Given the description of an element on the screen output the (x, y) to click on. 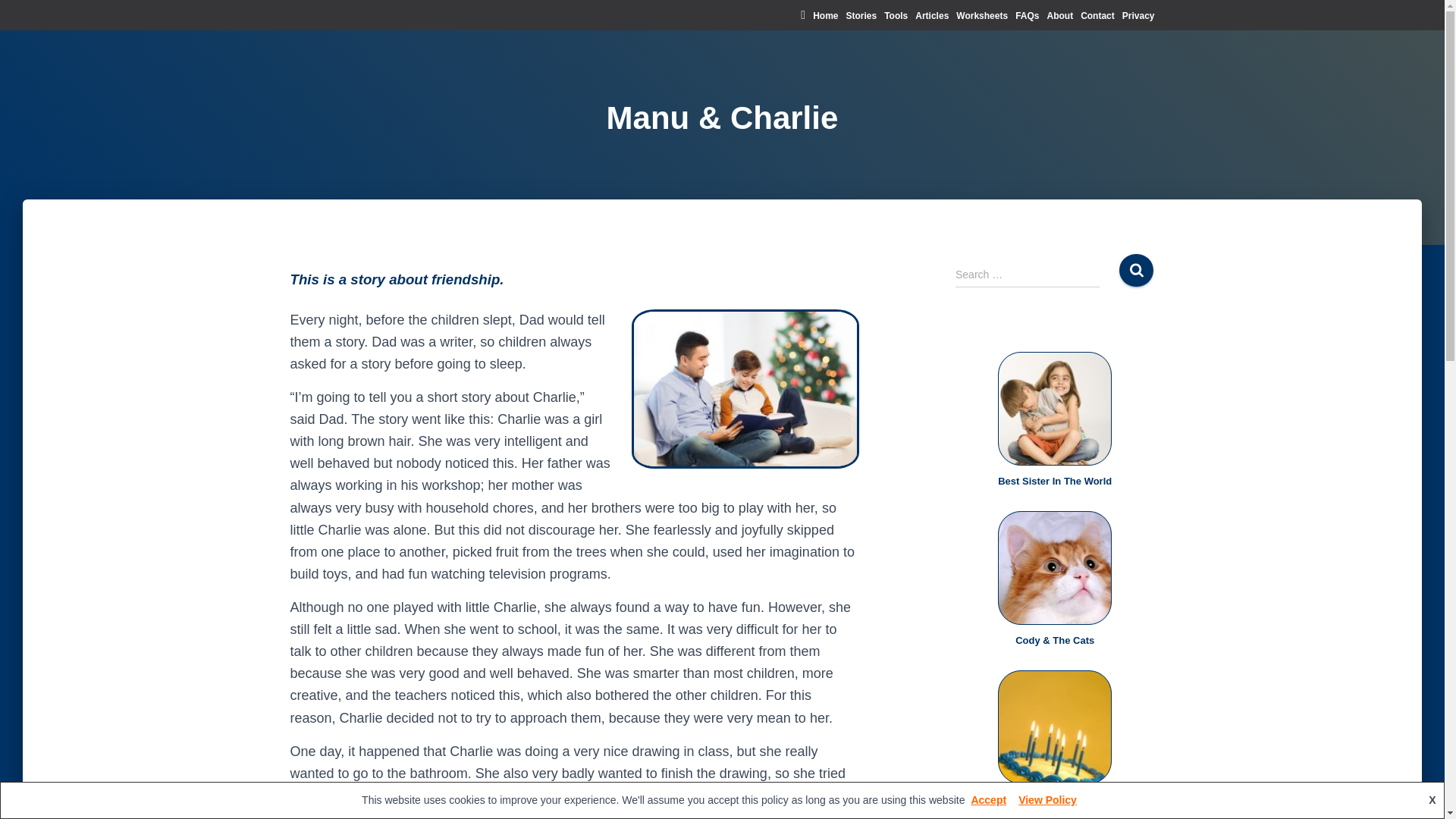
Worksheets (981, 15)
Contact (1097, 15)
Articles (932, 15)
Stories (860, 15)
Best Sister In The World (1054, 480)
Privacy (1138, 15)
Articles (932, 15)
Worksheets (981, 15)
Contact (1097, 15)
Search (1136, 269)
Search (1136, 269)
Privacy (1138, 15)
Stories (860, 15)
Search (1136, 269)
